Given the description of an element on the screen output the (x, y) to click on. 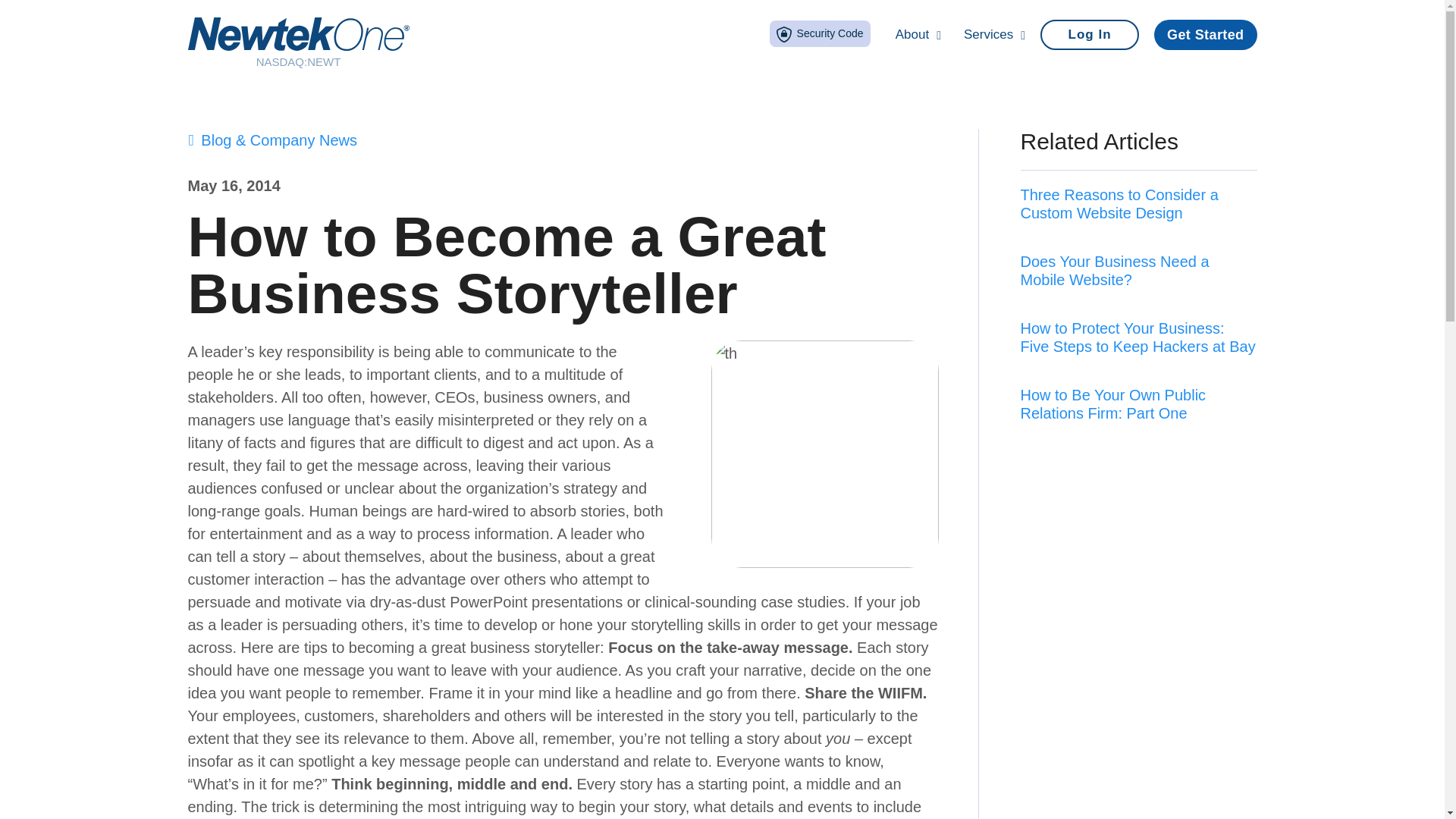
About (917, 34)
NASDAQ:NEWT (298, 42)
Services (994, 34)
Security Code (820, 33)
Log In (1089, 34)
Get Started (1205, 34)
